Given the description of an element on the screen output the (x, y) to click on. 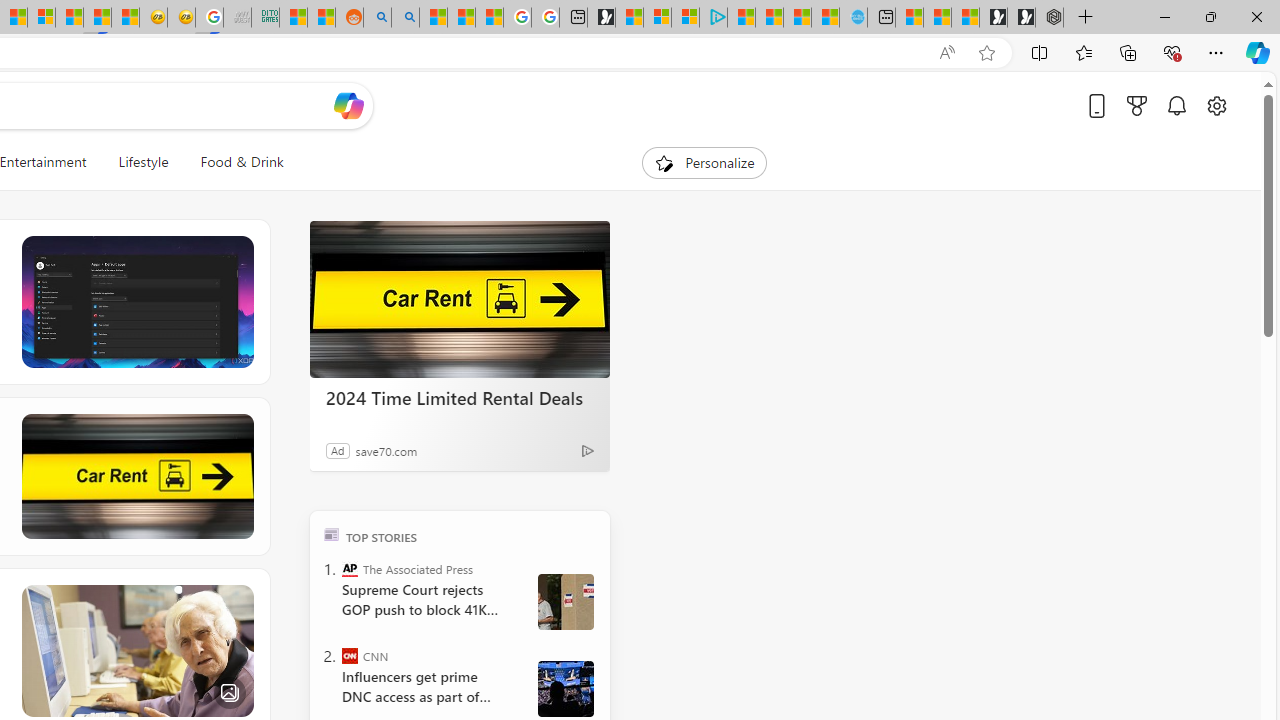
2024 Time Limited Rental Deals (459, 299)
Utah sues federal government - Search (404, 17)
